Given the description of an element on the screen output the (x, y) to click on. 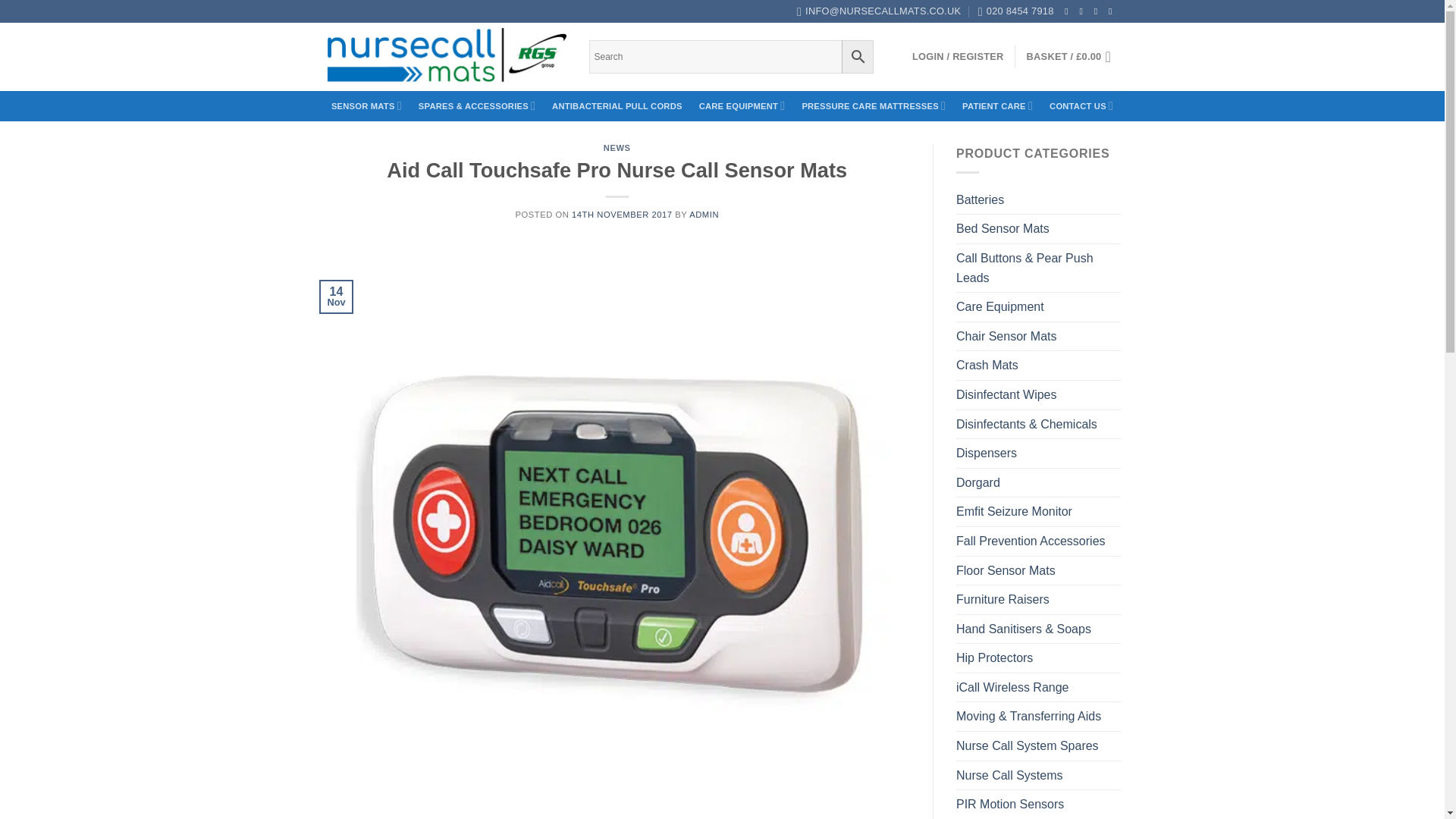
ANTIBACTERIAL PULL CORDS (616, 105)
020 8454 7918 (1016, 11)
020 8454 7918 (1016, 11)
PRESSURE CARE MATTRESSES (873, 105)
CARE EQUIPMENT (742, 105)
SENSOR MATS (366, 105)
Basket (1073, 56)
Nursecall Mats - On Demand Care (445, 57)
